Given the description of an element on the screen output the (x, y) to click on. 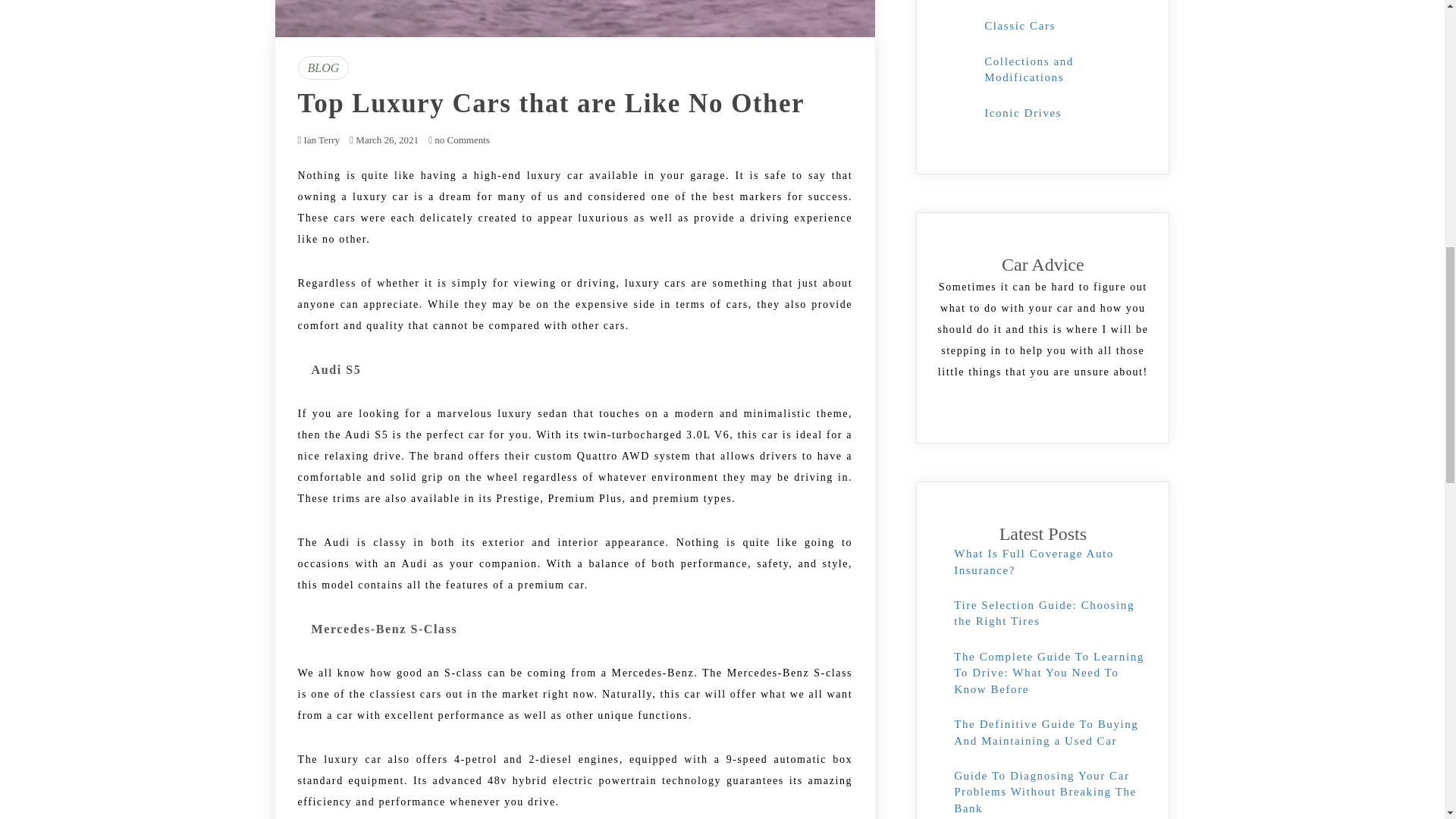
Posts by Ian Terry (320, 138)
Tire Selection Guide: Choosing the Right Tires (1043, 612)
BLOG (323, 67)
Iconic Drives (1022, 112)
Collections and Modifications (1029, 69)
Top Luxury Cars that are Like No Other (551, 102)
What Is Full Coverage Auto Insurance? (1033, 561)
March 26, 2021 (387, 138)
The Definitive Guide To Buying And Maintaining a Used Car (1045, 732)
Ian Terry (320, 138)
Classic Cars (1019, 25)
no Comments (458, 138)
